Given the description of an element on the screen output the (x, y) to click on. 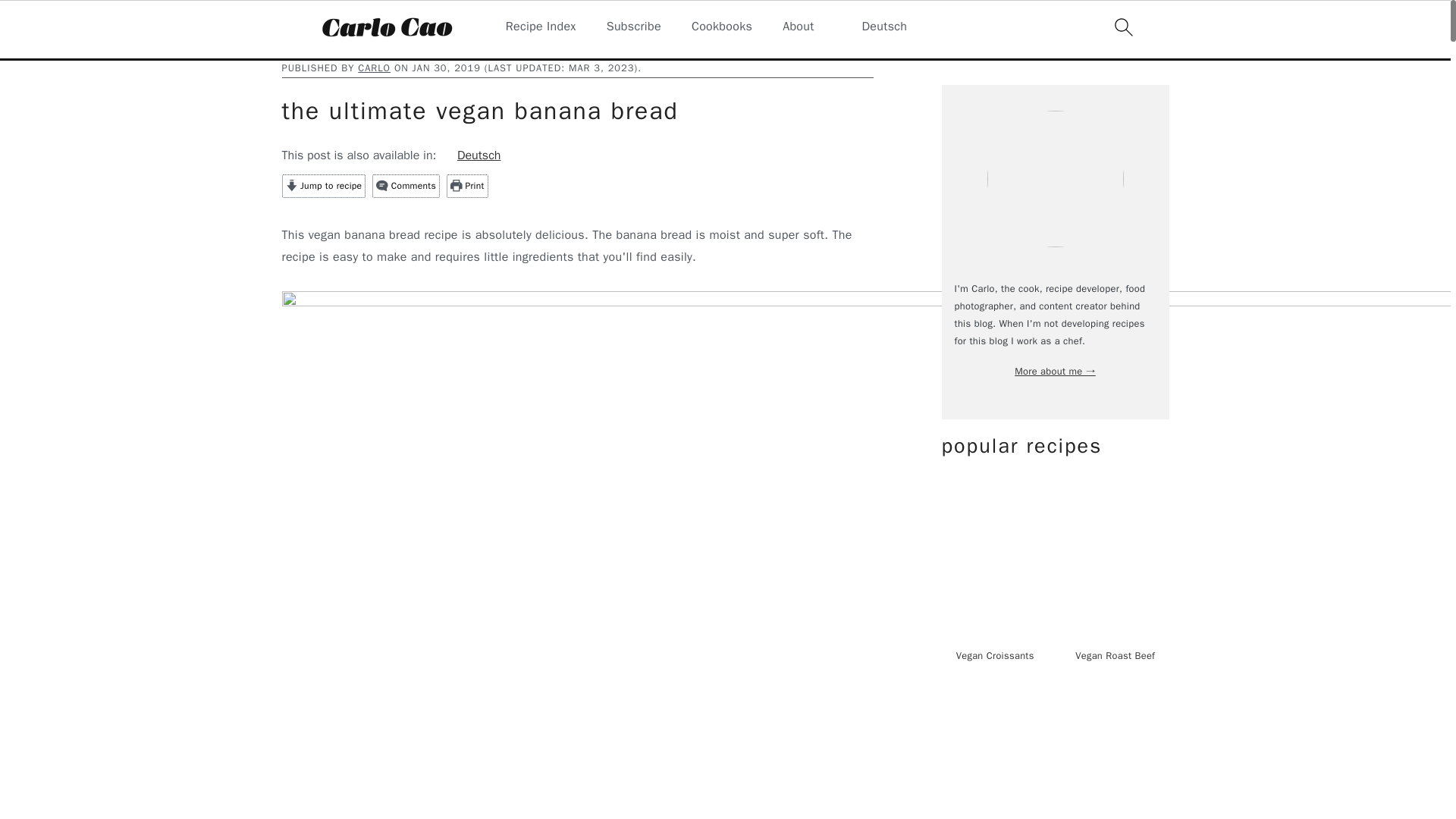
Subscribe (634, 26)
Deutsch (469, 155)
Cookbooks (721, 26)
Recipe Index (540, 26)
Deutsch (875, 26)
Home (293, 49)
search icon (1122, 26)
Jump to recipe (324, 186)
CARLO (374, 68)
